Given the description of an element on the screen output the (x, y) to click on. 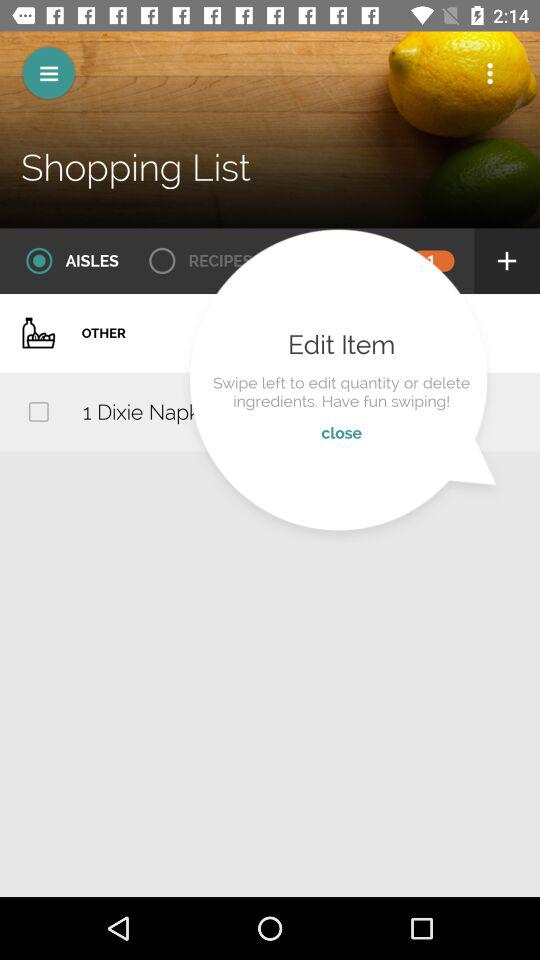
click on menu (48, 73)
